Given the description of an element on the screen output the (x, y) to click on. 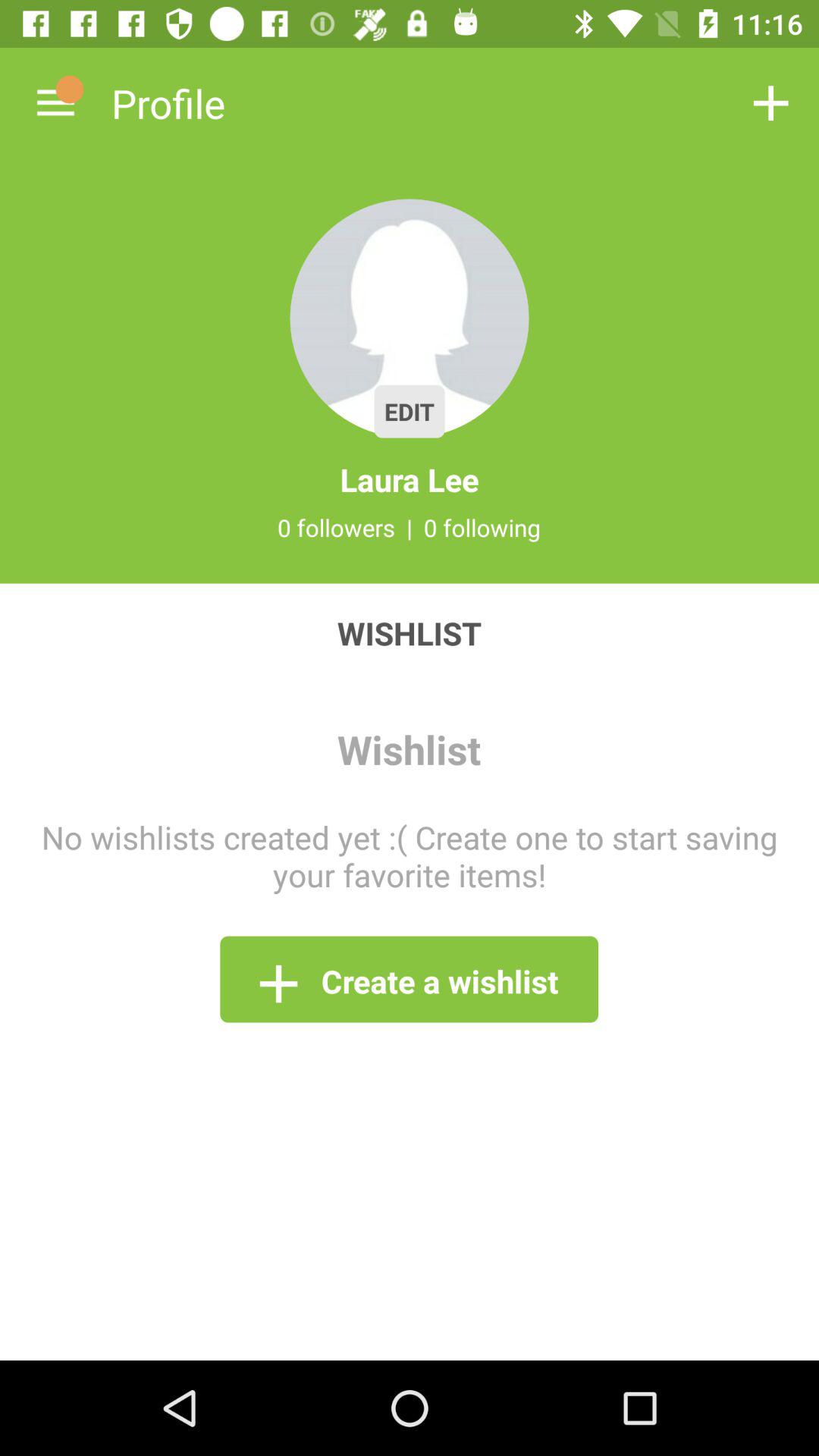
open icon below the laura lee item (409, 527)
